Given the description of an element on the screen output the (x, y) to click on. 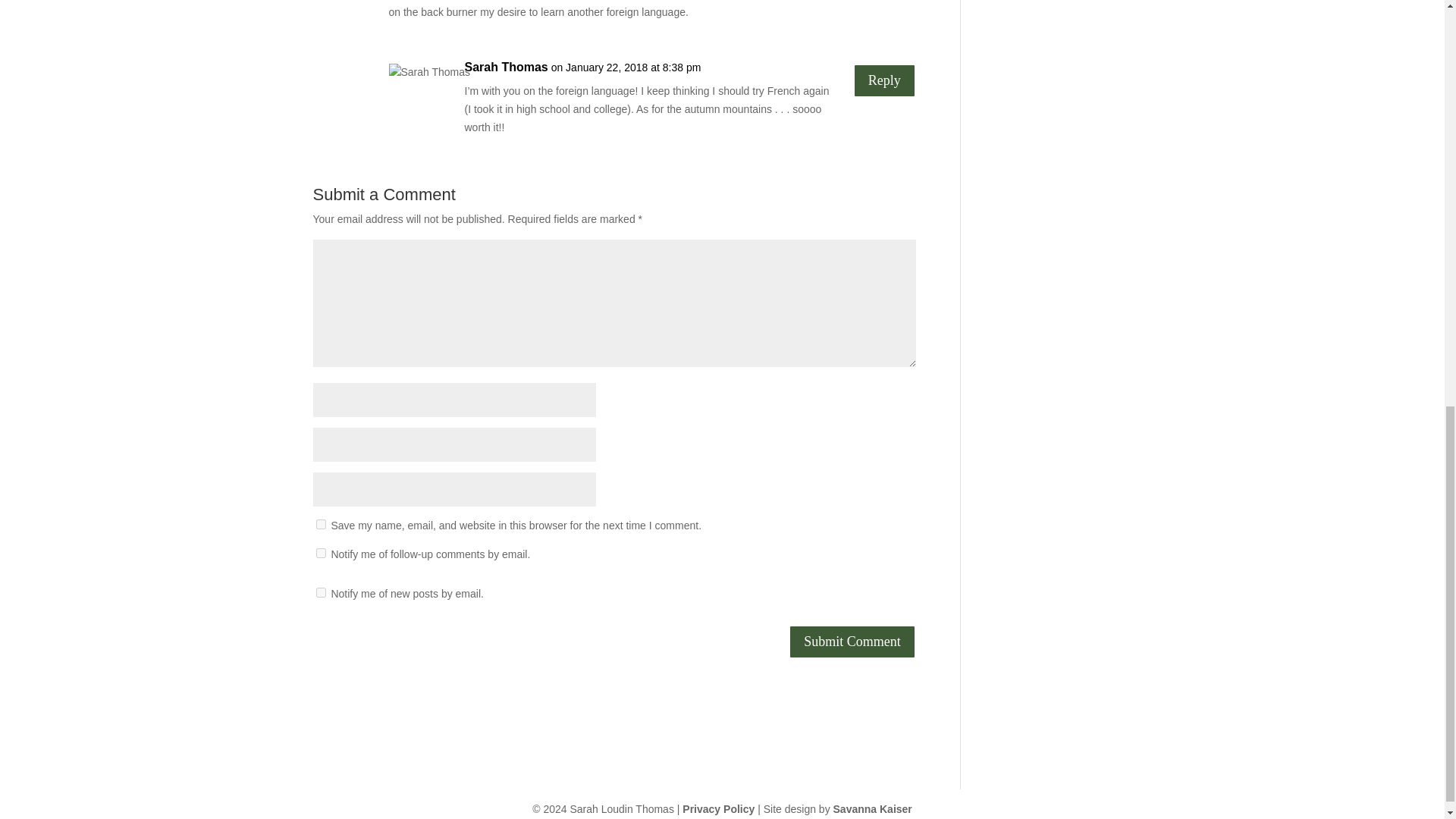
Savanna Kaiser (872, 808)
yes (319, 524)
subscribe (319, 552)
Sarah Thomas (505, 67)
Submit Comment (852, 641)
Privacy Policy (718, 808)
Submit Comment (852, 641)
Reply (884, 80)
subscribe (319, 592)
